Given the description of an element on the screen output the (x, y) to click on. 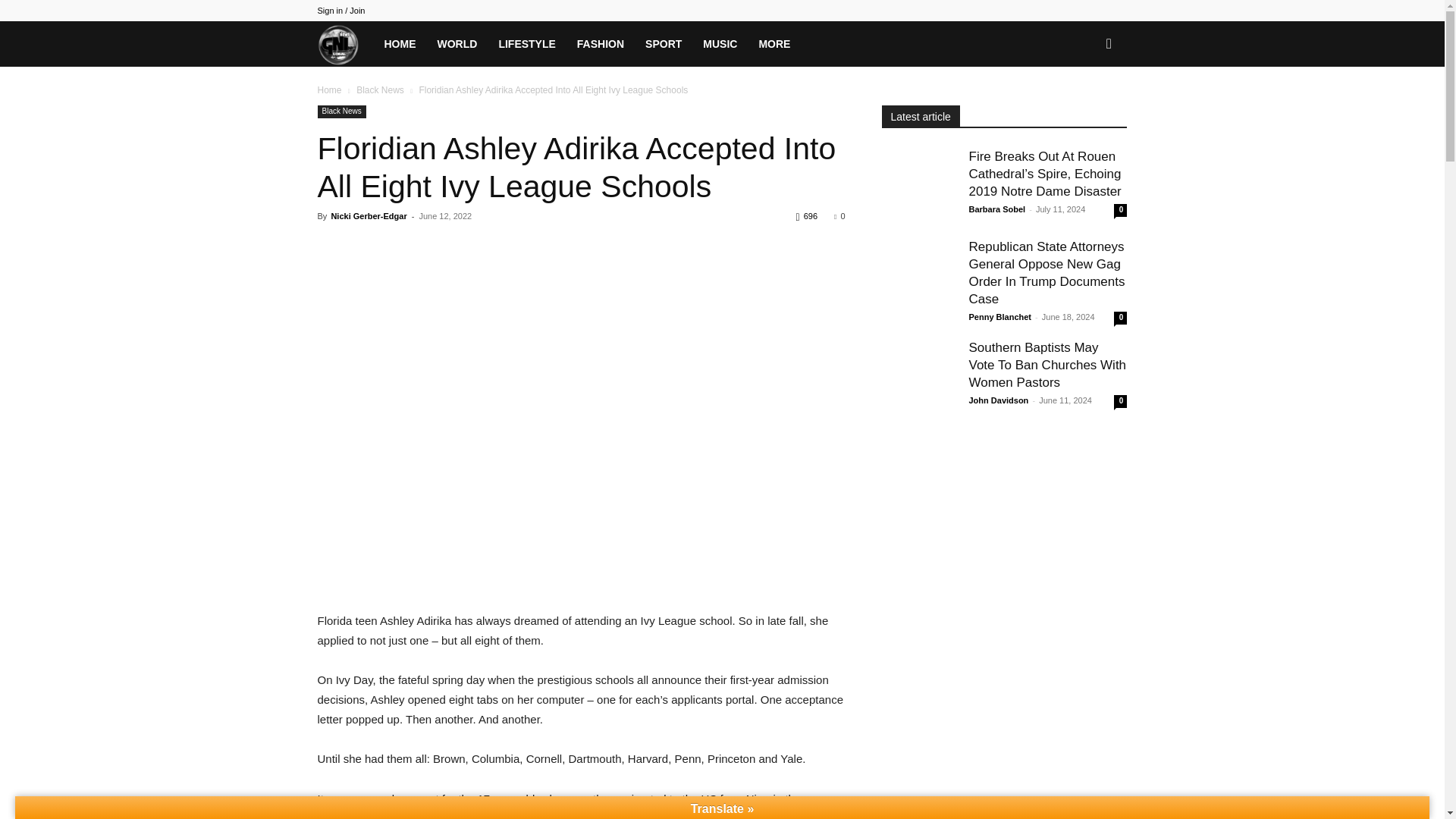
Global News Ink (344, 43)
HOME (399, 43)
LIFESTYLE (526, 43)
WORLD (456, 43)
